Given the description of an element on the screen output the (x, y) to click on. 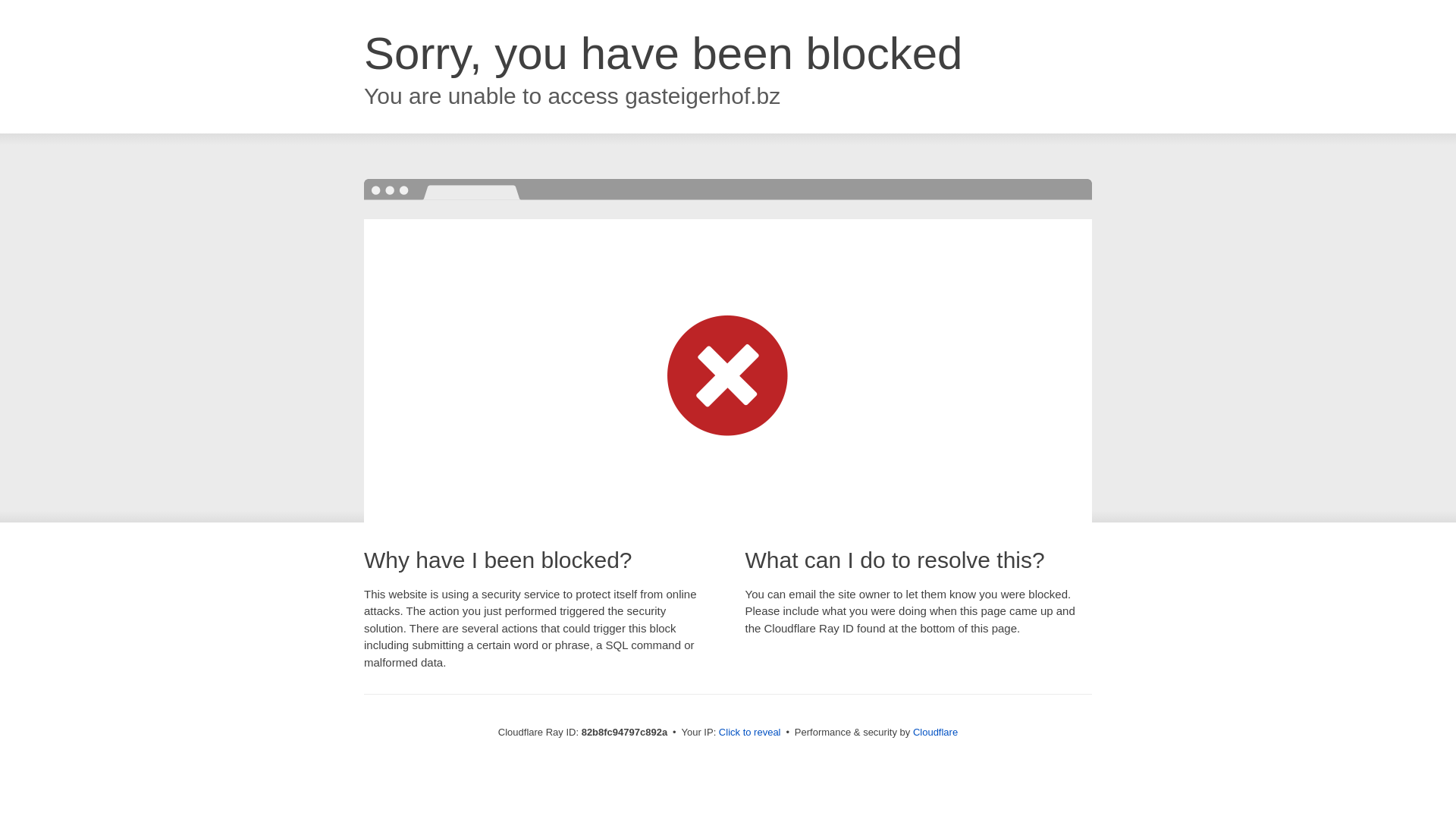
Click to reveal Element type: text (749, 732)
Cloudflare Element type: text (935, 731)
